Given the description of an element on the screen output the (x, y) to click on. 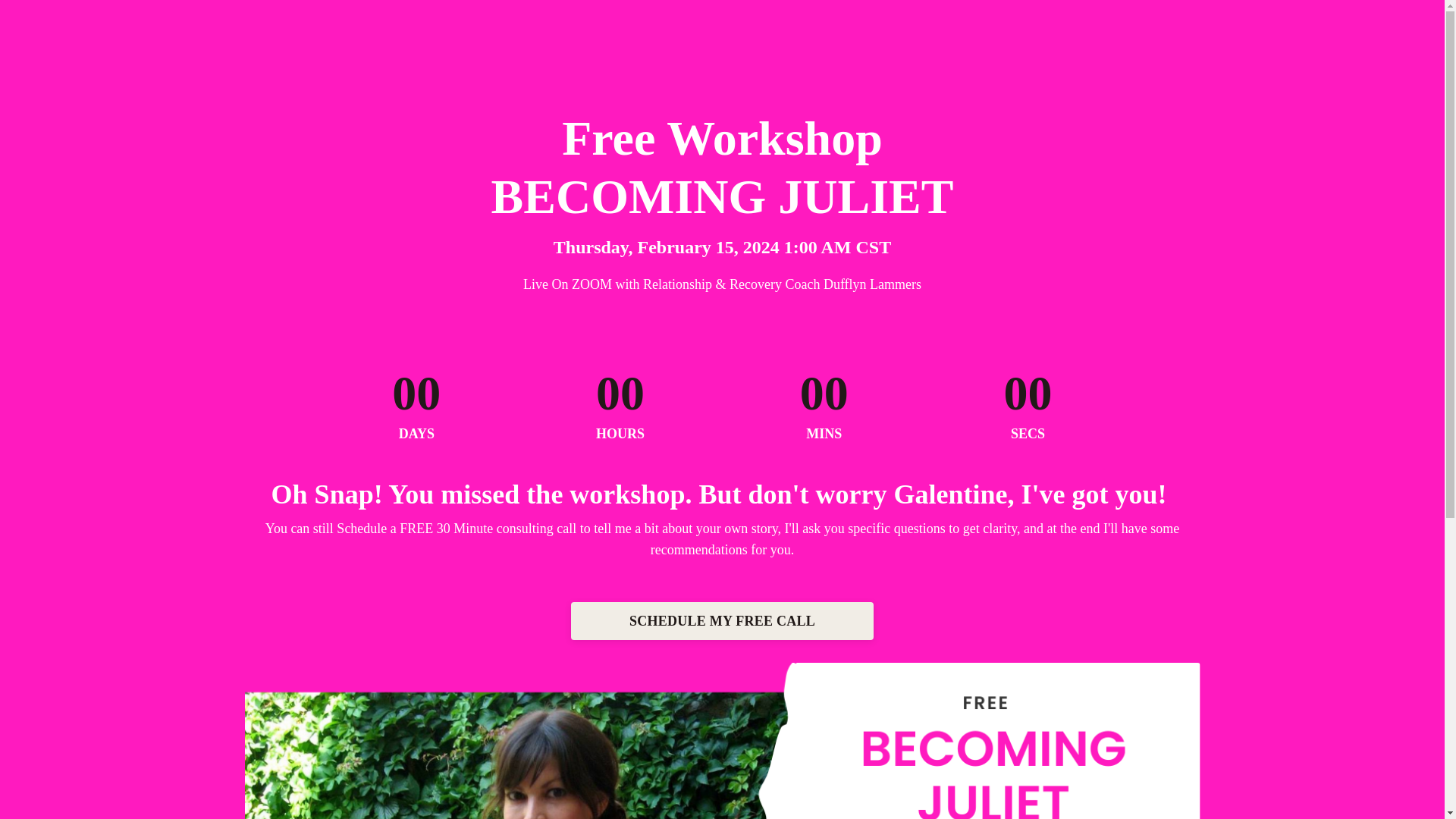
SCHEDULE MY FREE CALL (721, 620)
